Given the description of an element on the screen output the (x, y) to click on. 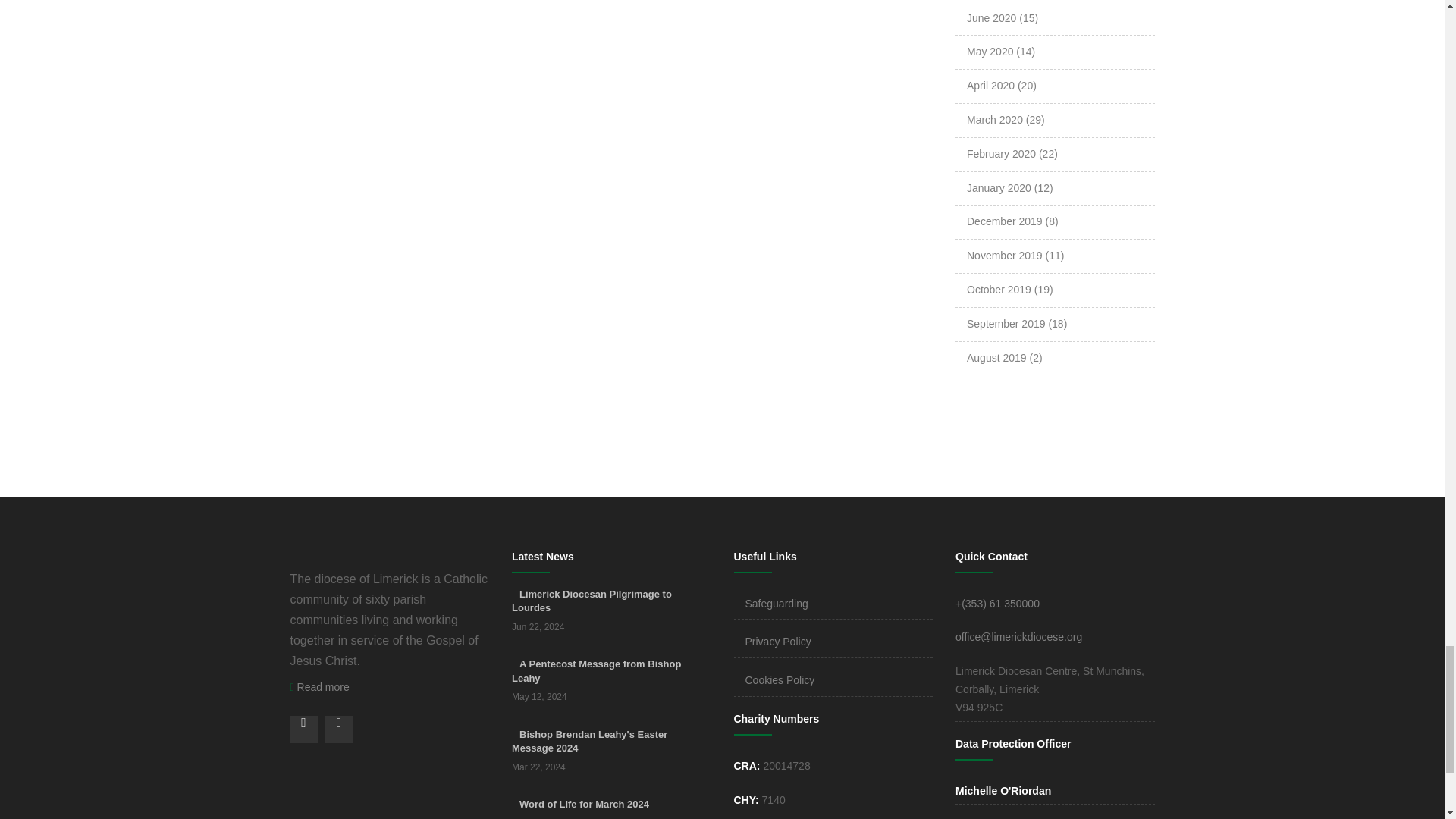
Instgram (338, 728)
Facebook (303, 728)
